Given the description of an element on the screen output the (x, y) to click on. 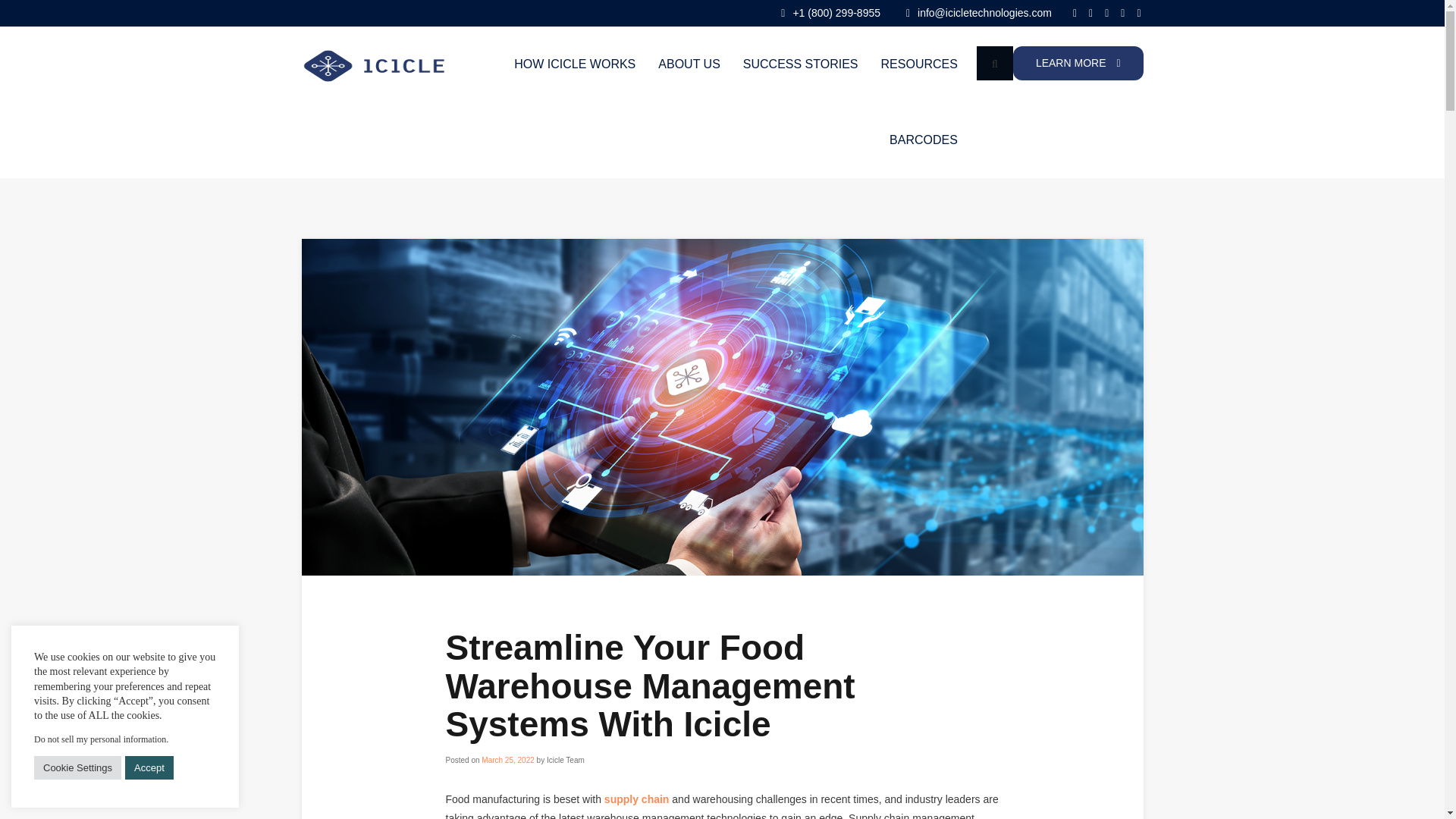
March 25, 2022 (507, 759)
SUCCESS STORIES (800, 63)
HOW ICICLE WORKS (574, 63)
RESOURCES (919, 63)
supply chain (636, 799)
LEARN MORE (1077, 62)
ABOUT US (689, 63)
BARCODES (923, 140)
